Given the description of an element on the screen output the (x, y) to click on. 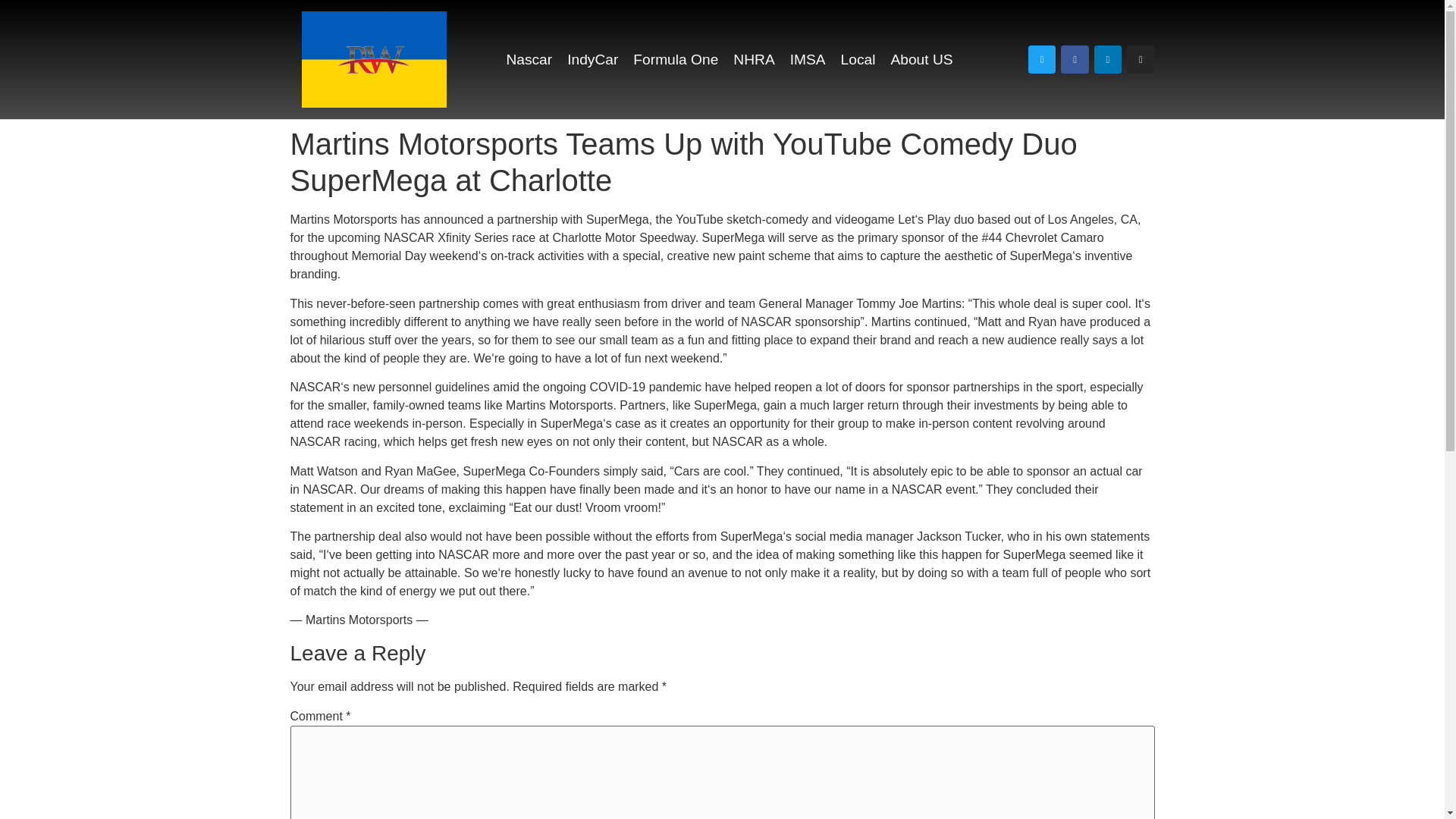
IndyCar (592, 59)
Nascar (528, 59)
